Given the description of an element on the screen output the (x, y) to click on. 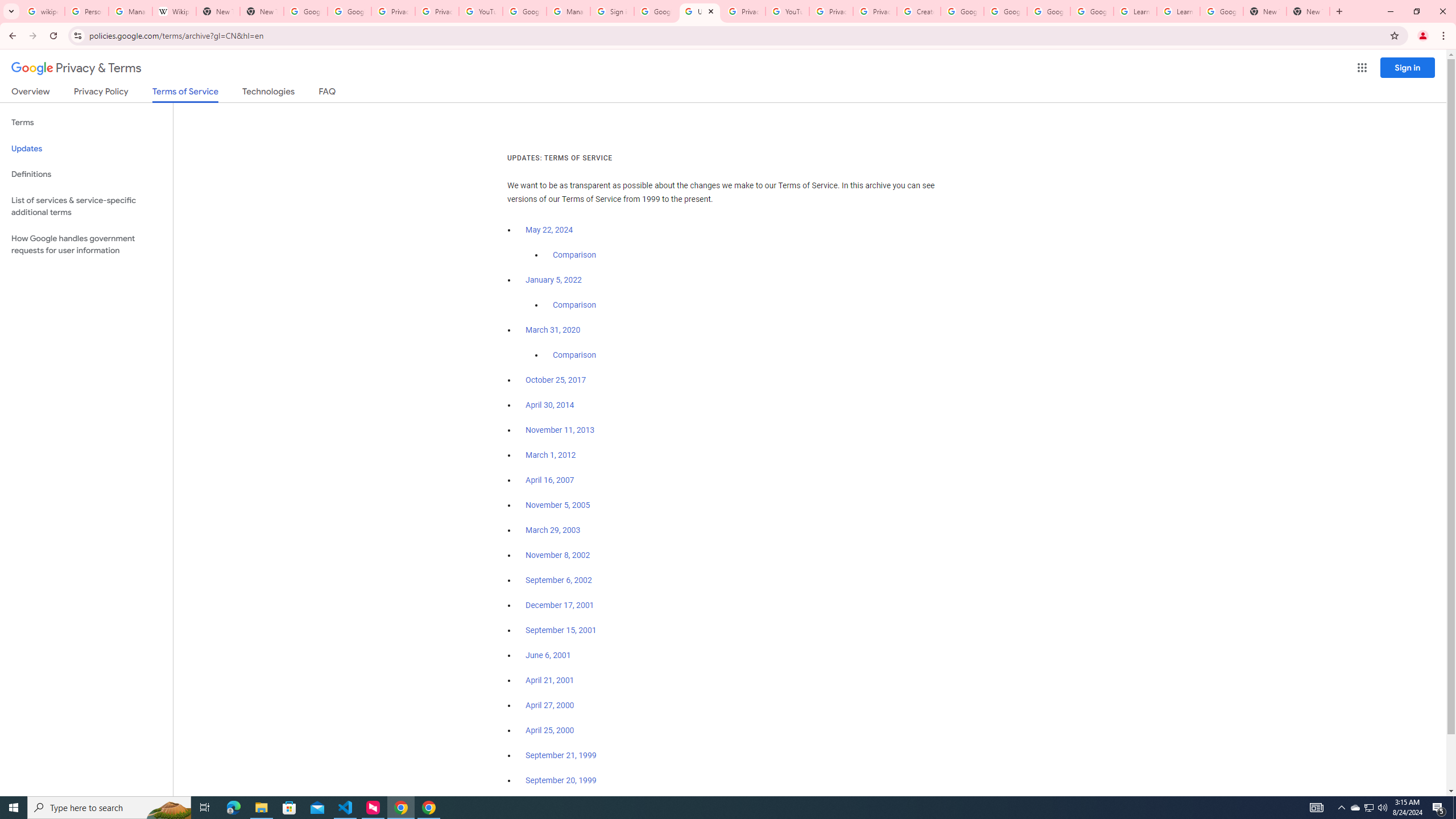
January 5, 2022 (553, 280)
April 27, 2000 (550, 705)
Comparison (574, 355)
November 11, 2013 (560, 430)
How Google handles government requests for user information (86, 244)
June 6, 2001 (547, 655)
Sign in - Google Accounts (612, 11)
November 8, 2002 (557, 555)
Personalization & Google Search results - Google Search Help (86, 11)
Definitions (86, 174)
